Given the description of an element on the screen output the (x, y) to click on. 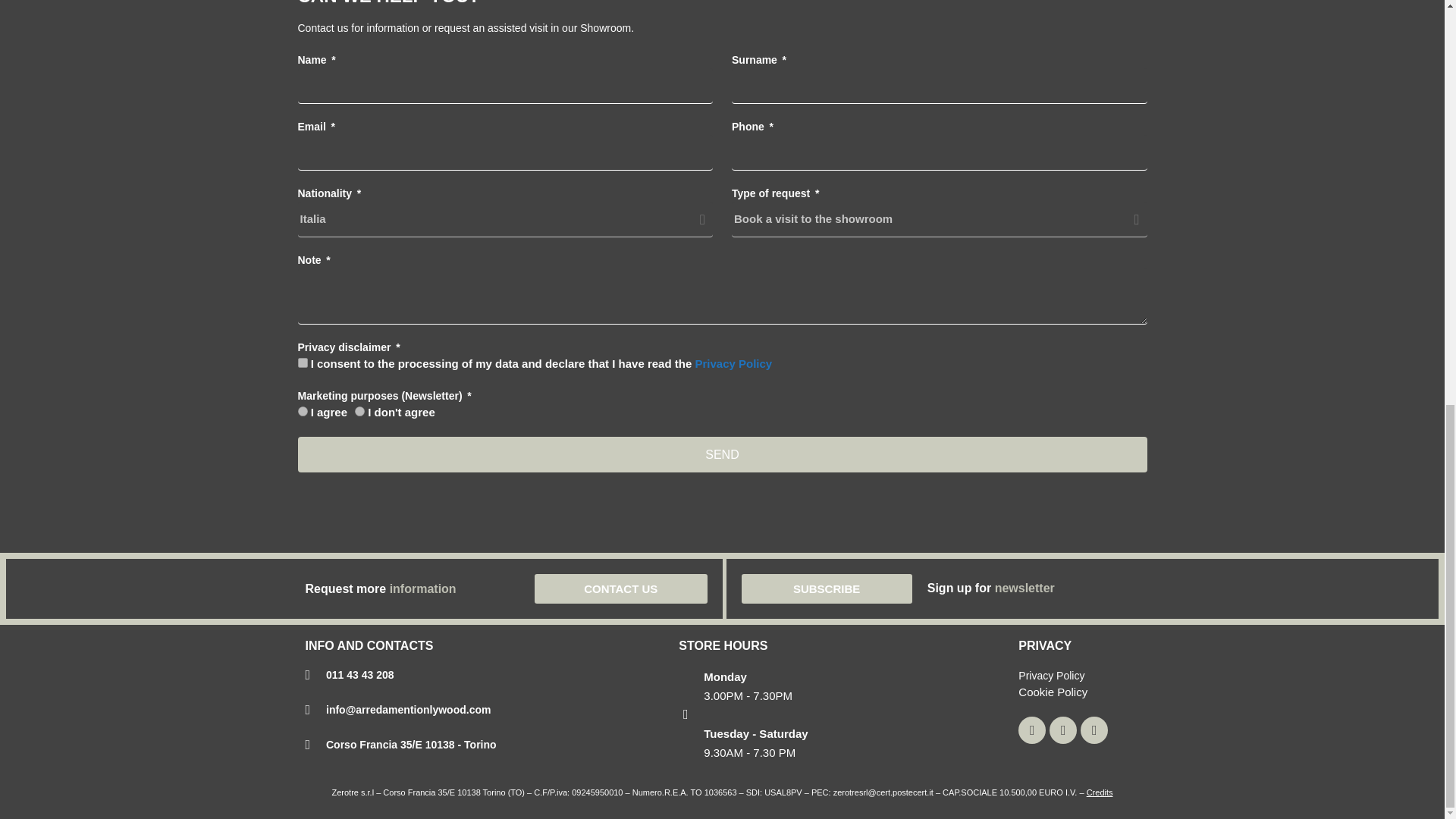
I agree (302, 411)
on (302, 362)
I don't agree (360, 411)
